Given the description of an element on the screen output the (x, y) to click on. 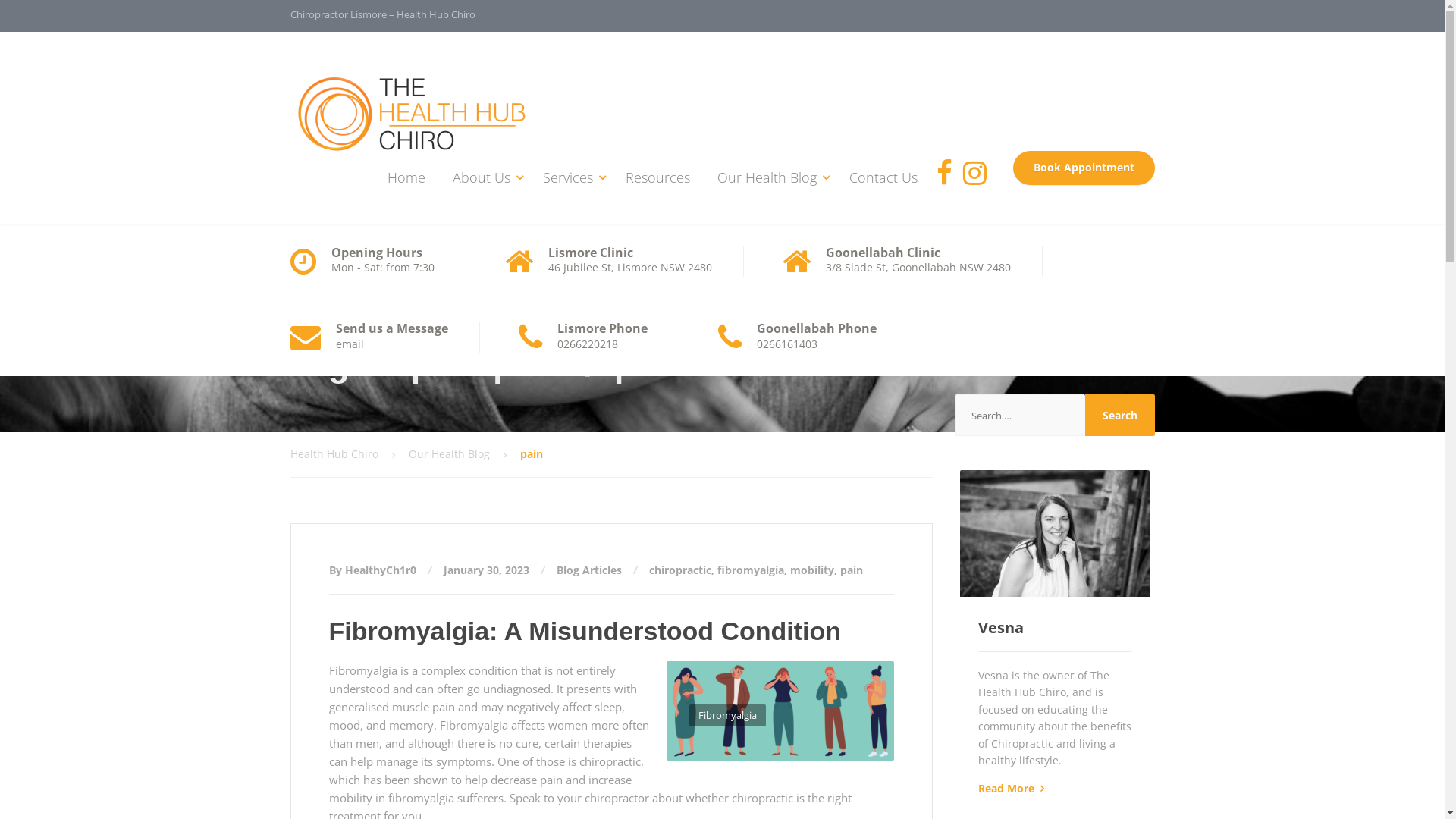
Contact Us Element type: text (883, 177)
mobility Element type: text (812, 569)
Services Element type: text (570, 177)
Our Health Blog Element type: text (463, 454)
chiropractic Element type: text (680, 569)
Resources Element type: text (656, 177)
About Us Element type: text (483, 177)
Read More Element type: text (1006, 788)
fibromyalgia Element type: text (750, 569)
Search Element type: text (1119, 415)
Book Appointment Element type: text (1083, 167)
Fibromyalgia: A Misunderstood Condition Element type: text (585, 630)
Vesna Element type: text (1000, 627)
Health Hub Chiro Element type: hover (410, 102)
Our Health Blog Element type: text (769, 177)
Home Element type: text (405, 177)
Blog Articles Element type: text (588, 569)
Health Hub Chiro Element type: text (348, 454)
pain Element type: text (851, 569)
